Given the description of an element on the screen output the (x, y) to click on. 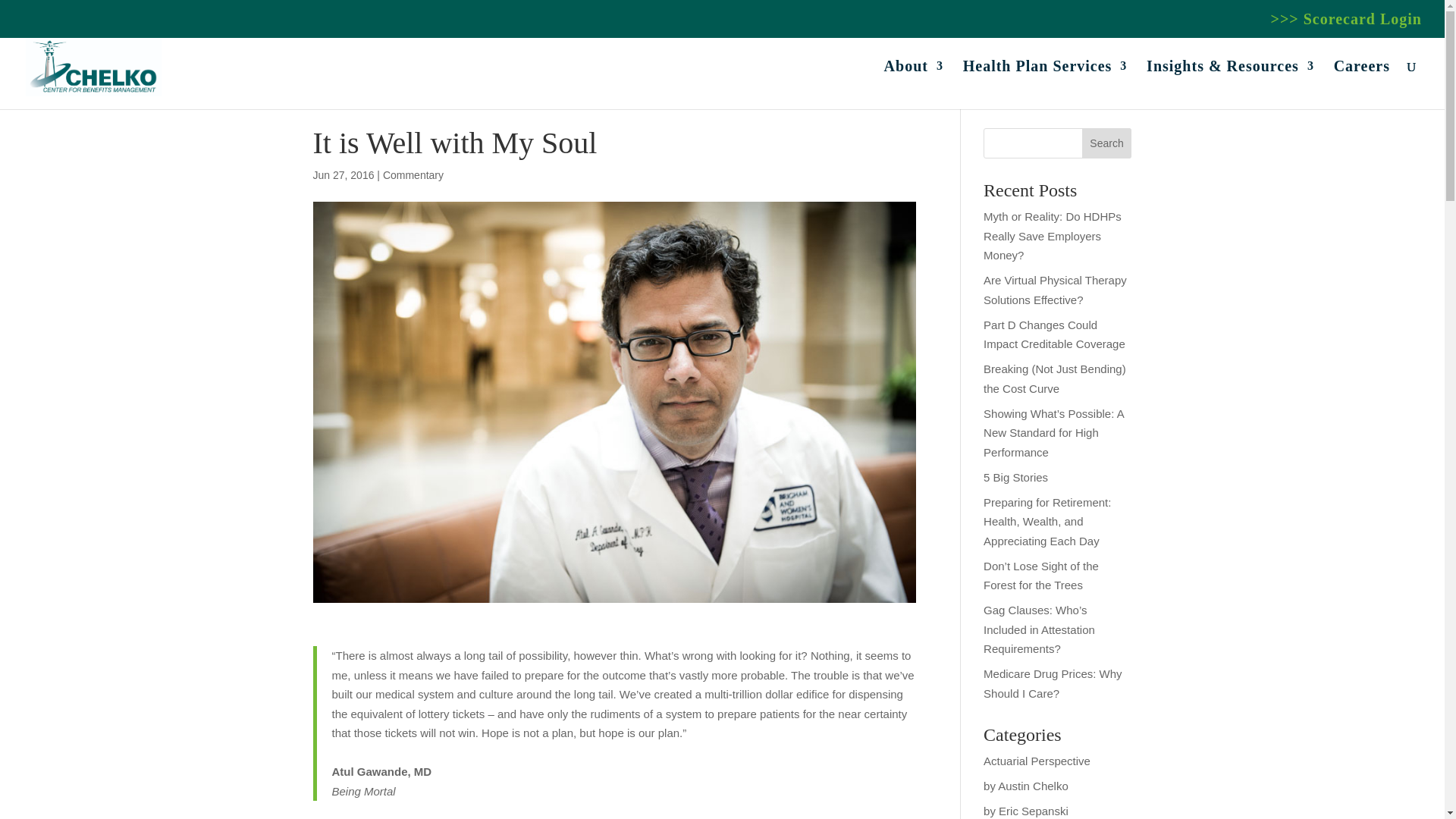
Health Plan Services (1044, 84)
Part D Changes Could Impact Creditable Coverage (1054, 334)
Commentary (413, 174)
5 Big Stories (1016, 476)
Are Virtual Physical Therapy Solutions Effective? (1055, 289)
Actuarial Perspective (1037, 760)
Search (1106, 142)
Careers (1361, 84)
Search (1106, 142)
by Eric Sepanski (1026, 810)
